Given the description of an element on the screen output the (x, y) to click on. 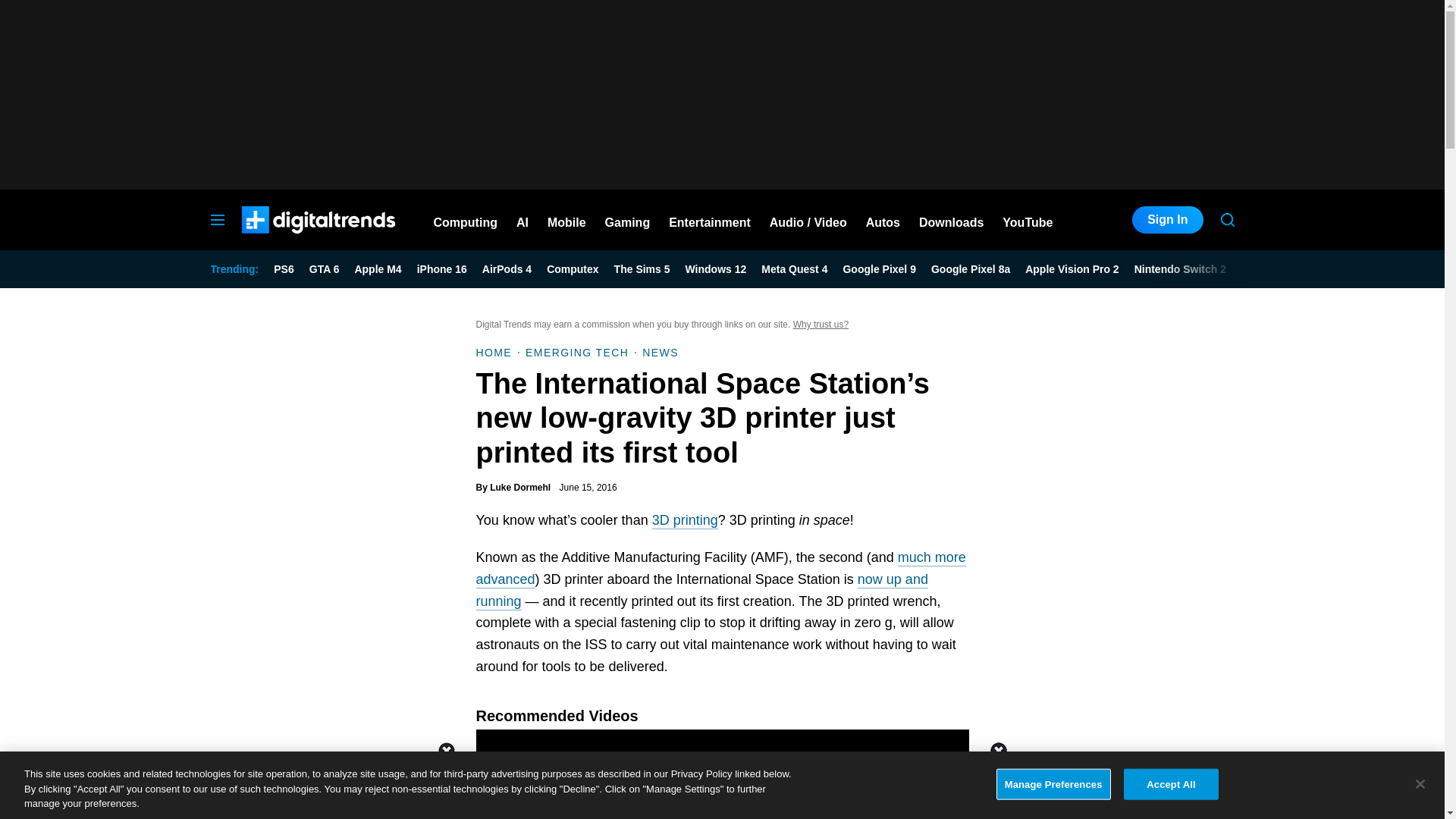
Computing (465, 219)
Downloads (951, 219)
Entertainment (709, 219)
3rd party ad content (721, 785)
Sign In (1167, 219)
